Given the description of an element on the screen output the (x, y) to click on. 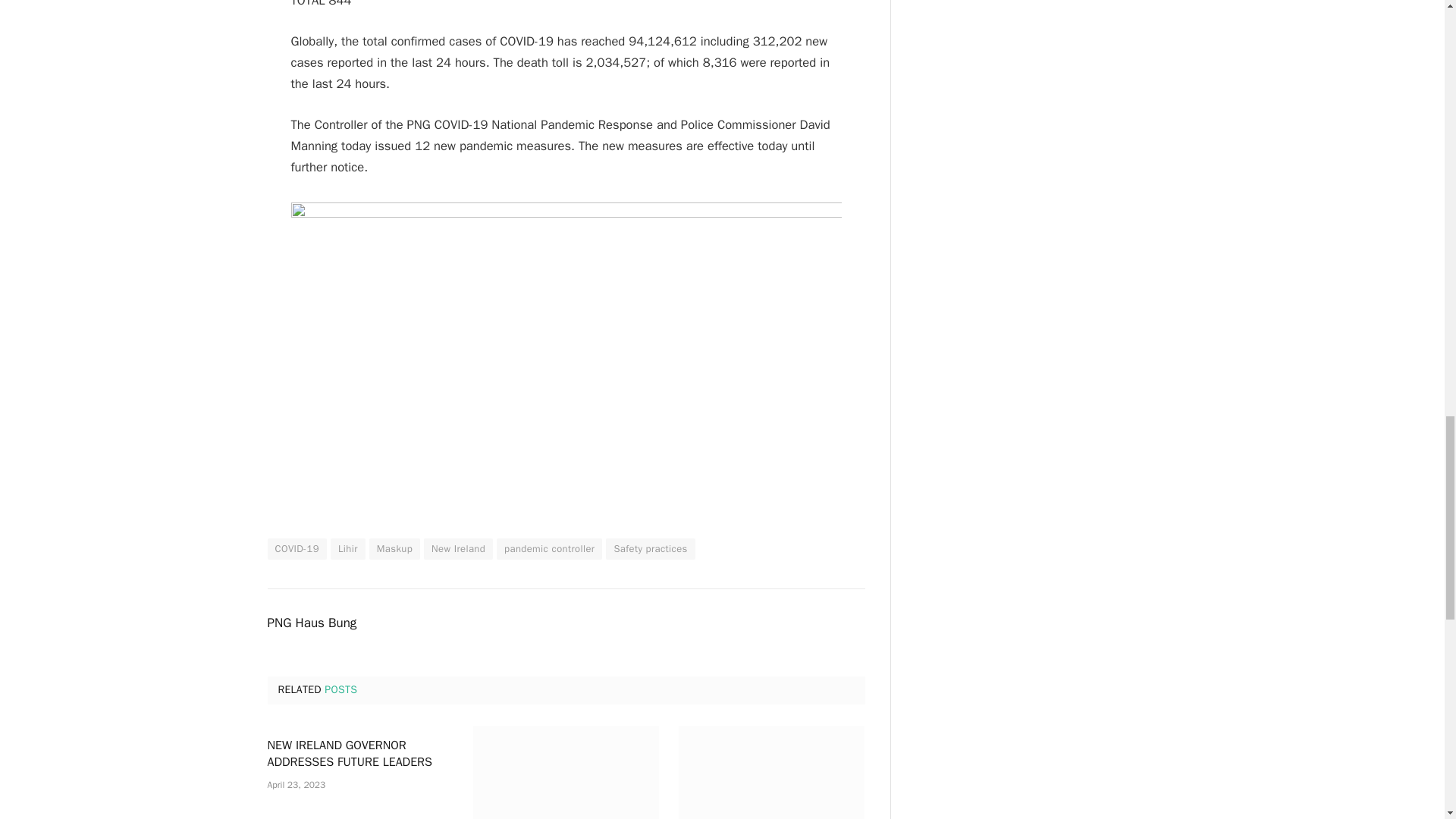
Posts by PNG Haus Bung (311, 622)
COVID-19 (296, 548)
New Ireland (458, 548)
Maskup (394, 548)
Lihir (347, 548)
